Given the description of an element on the screen output the (x, y) to click on. 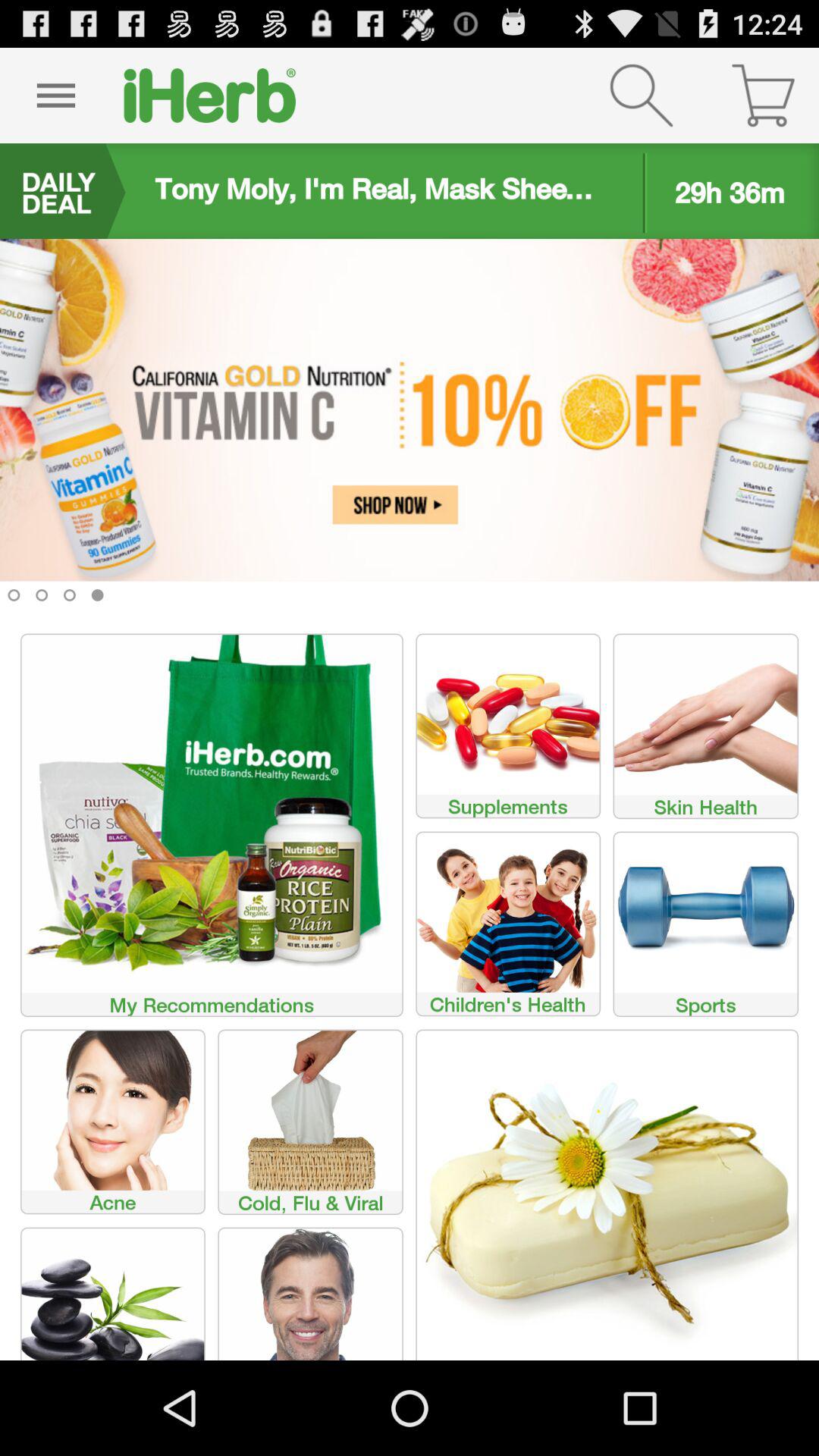
search (641, 95)
